Given the description of an element on the screen output the (x, y) to click on. 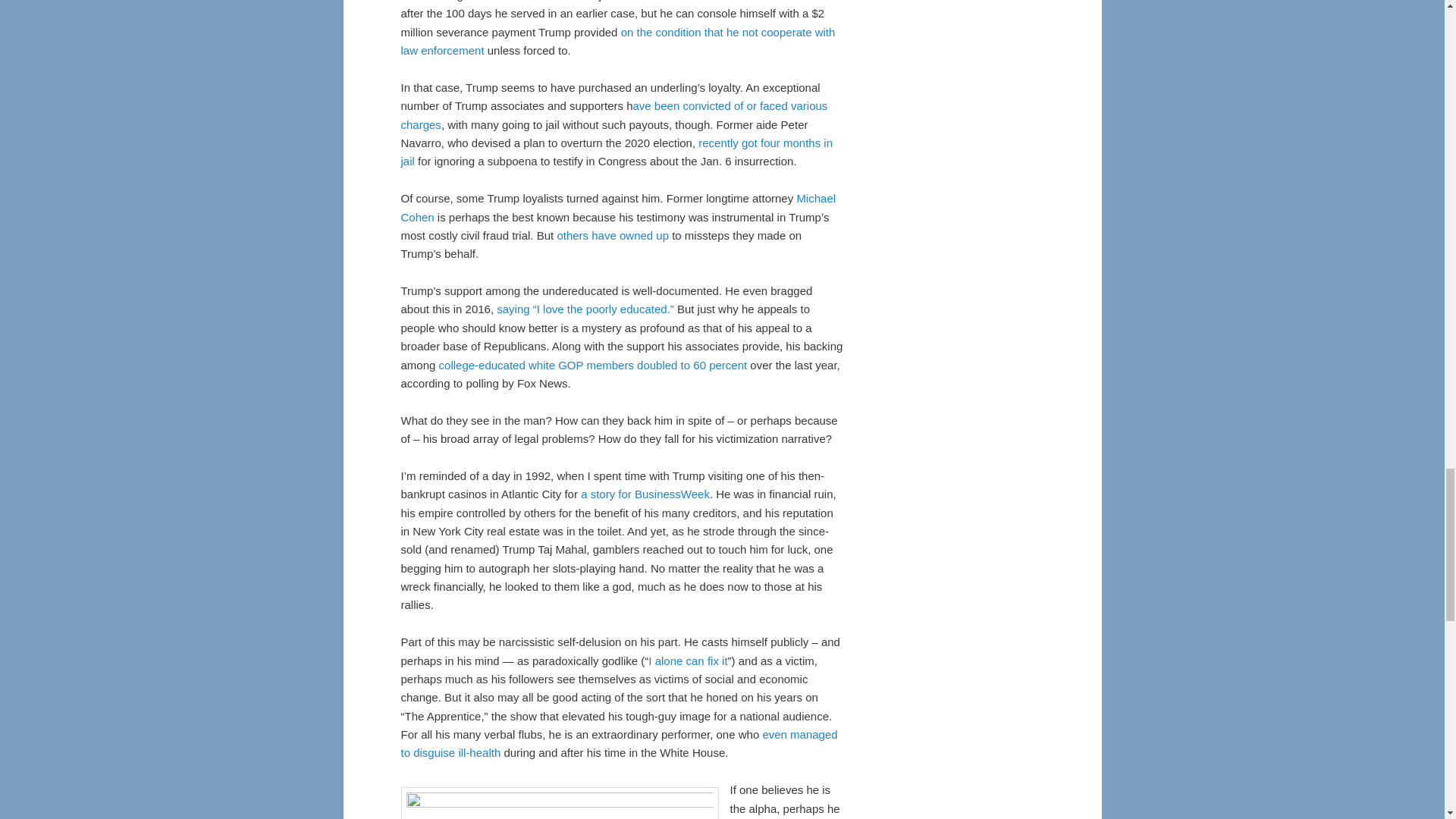
others have owned up (612, 235)
even managed to disguise ill-health (618, 743)
a story for BusinessWeek (645, 493)
college-educated white GOP members doubled to 60 percent (593, 364)
ave been convicted of or faced various charges (613, 114)
I alone can fix it (686, 660)
Michael Cohen (617, 206)
recently got four months in jail (616, 151)
on the condition that he not cooperate with law enforcement (617, 40)
